Given the description of an element on the screen output the (x, y) to click on. 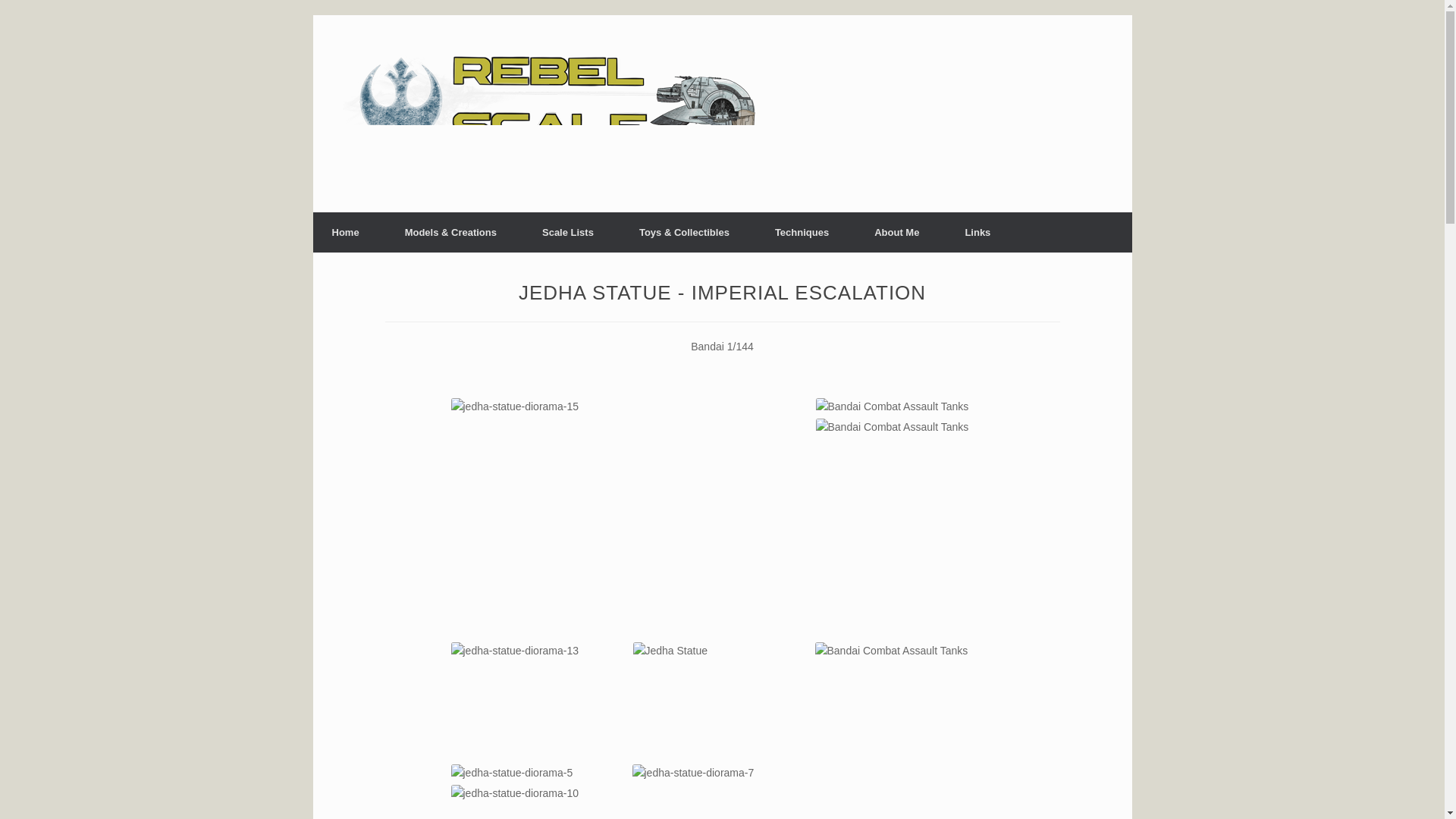
jedha-statue-diorama-3 (892, 426)
Scale Lists (567, 232)
jedha-statue-diorama-15 (513, 406)
jedha-statue-diorama-1 (669, 650)
jedha-statue-diorama-7 (692, 772)
Home (344, 232)
jedha-statue-diorama-5 (510, 772)
jedha-statue-diorama-12 (890, 650)
jedha-statue-diorama-11 (892, 406)
jedha-statue-diorama-10 (513, 792)
